Given the description of an element on the screen output the (x, y) to click on. 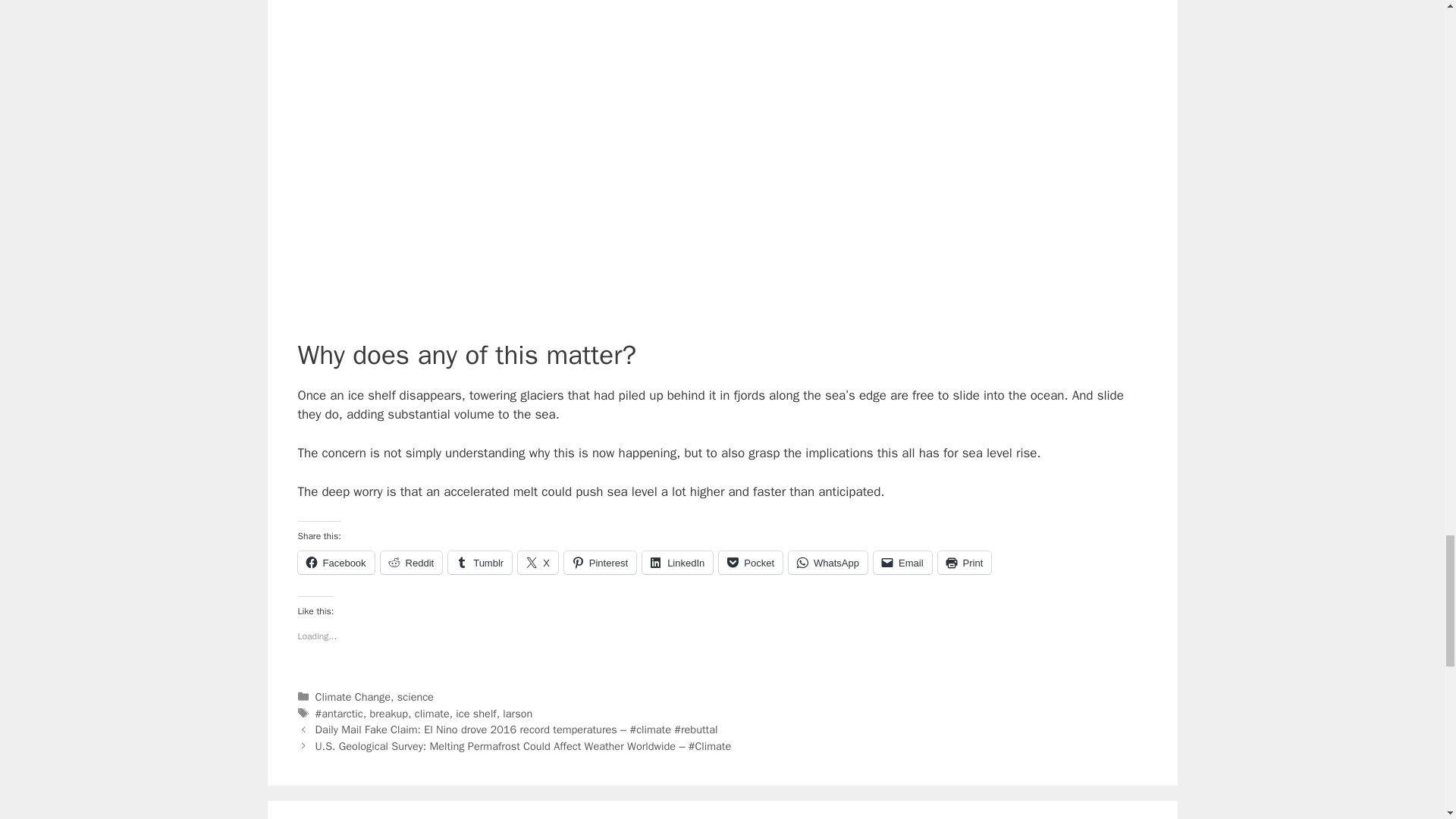
Click to print (964, 562)
Click to share on WhatsApp (828, 562)
Click to share on Pinterest (600, 562)
Click to share on Reddit (411, 562)
Click to share on LinkedIn (677, 562)
Click to email a link to a friend (902, 562)
Click to share on Tumblr (480, 562)
Click to share on X (537, 562)
Click to share on Facebook (335, 562)
Click to share on Pocket (751, 562)
